Given the description of an element on the screen output the (x, y) to click on. 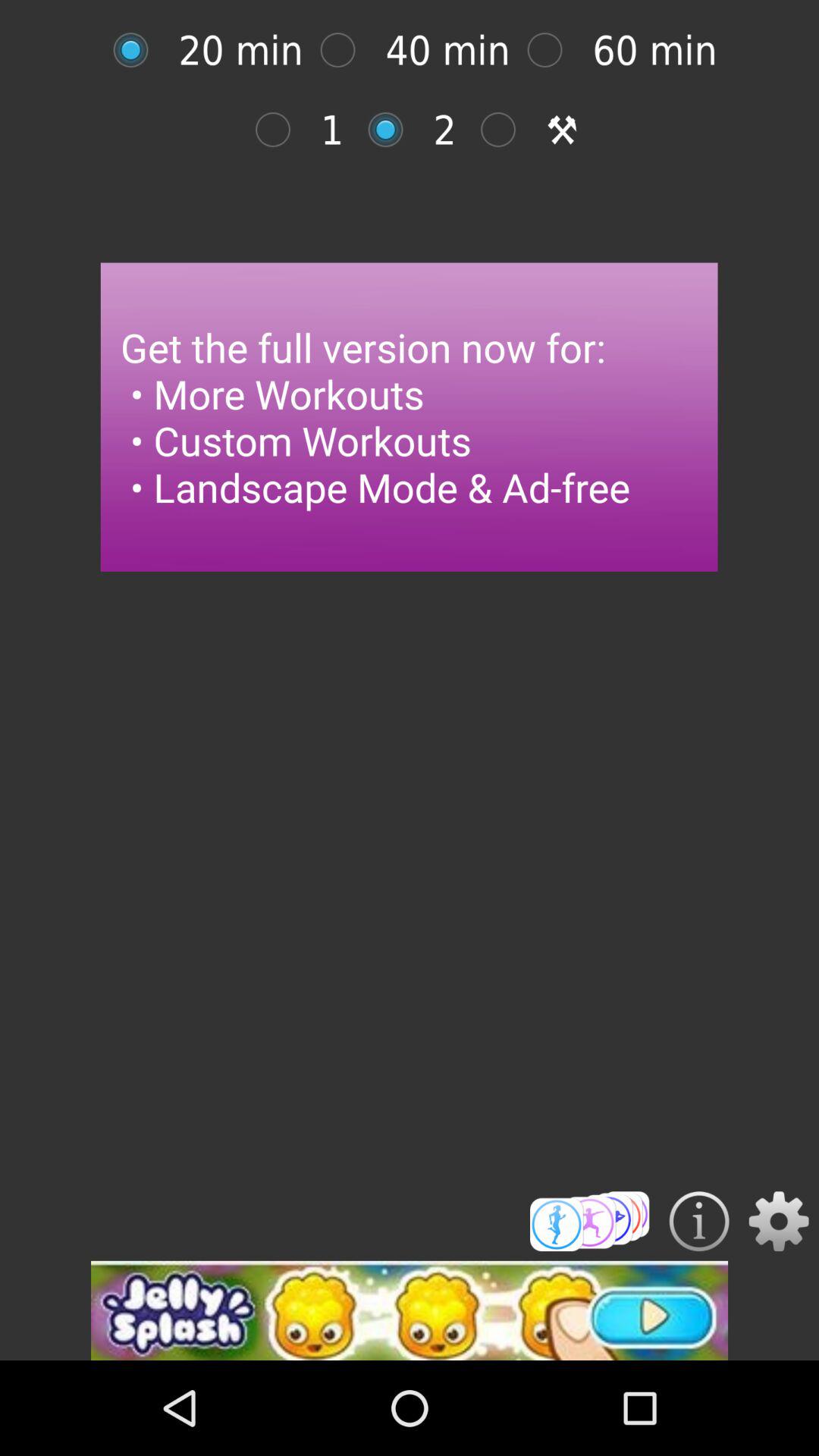
40 minute timer selection (345, 49)
